Given the description of an element on the screen output the (x, y) to click on. 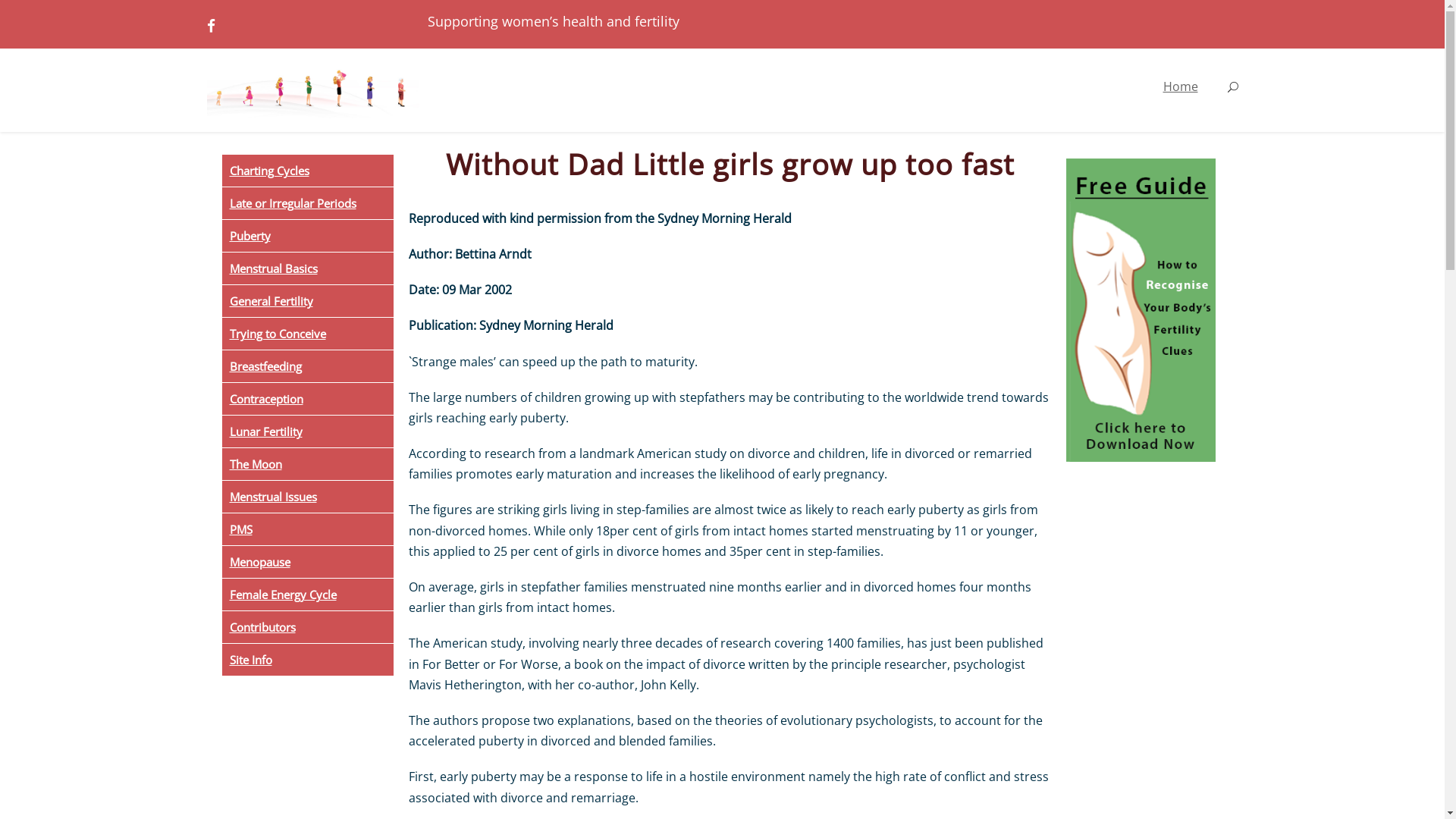
Trying to Conceive Element type: text (306, 333)
Female Energy Cycle Element type: text (306, 594)
Charting Cycles Element type: text (306, 170)
Late or Irregular Periods Element type: text (306, 203)
Contributors Element type: text (306, 627)
PMS Element type: text (306, 529)
Menstrual Basics Element type: text (306, 268)
Lunar Fertility Element type: text (306, 431)
Breastfeeding Element type: text (306, 366)
The Moon Element type: text (306, 464)
Menstrual Issues Element type: text (306, 496)
facebook Element type: hover (210, 25)
Home Element type: text (1180, 99)
safe/how-to-recognise-fertility-clues Element type: hover (1159, 314)
Site Info Element type: text (306, 659)
General Fertility Element type: text (306, 300)
Puberty Element type: text (306, 235)
Contraception Element type: text (306, 398)
Menopause Element type: text (306, 561)
